Given the description of an element on the screen output the (x, y) to click on. 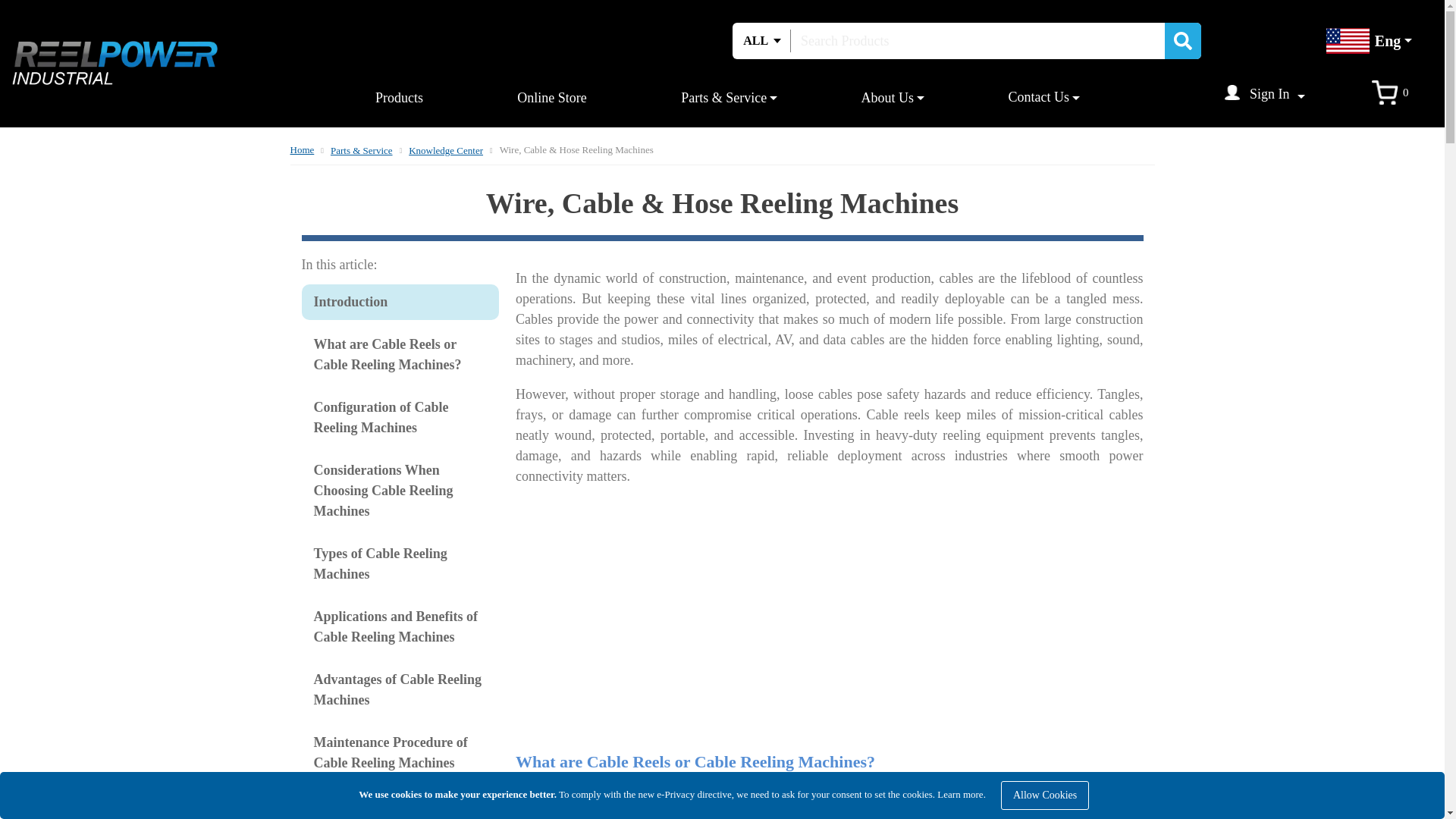
Contact Us (1039, 96)
Products (399, 97)
Search (1182, 40)
About Us (888, 97)
Allow Cookies (1045, 795)
Online Store (551, 97)
Search (1182, 40)
Learn more (959, 794)
About Us (888, 97)
Online Store (551, 97)
Products (399, 97)
Reelpowerind (113, 63)
